Given the description of an element on the screen output the (x, y) to click on. 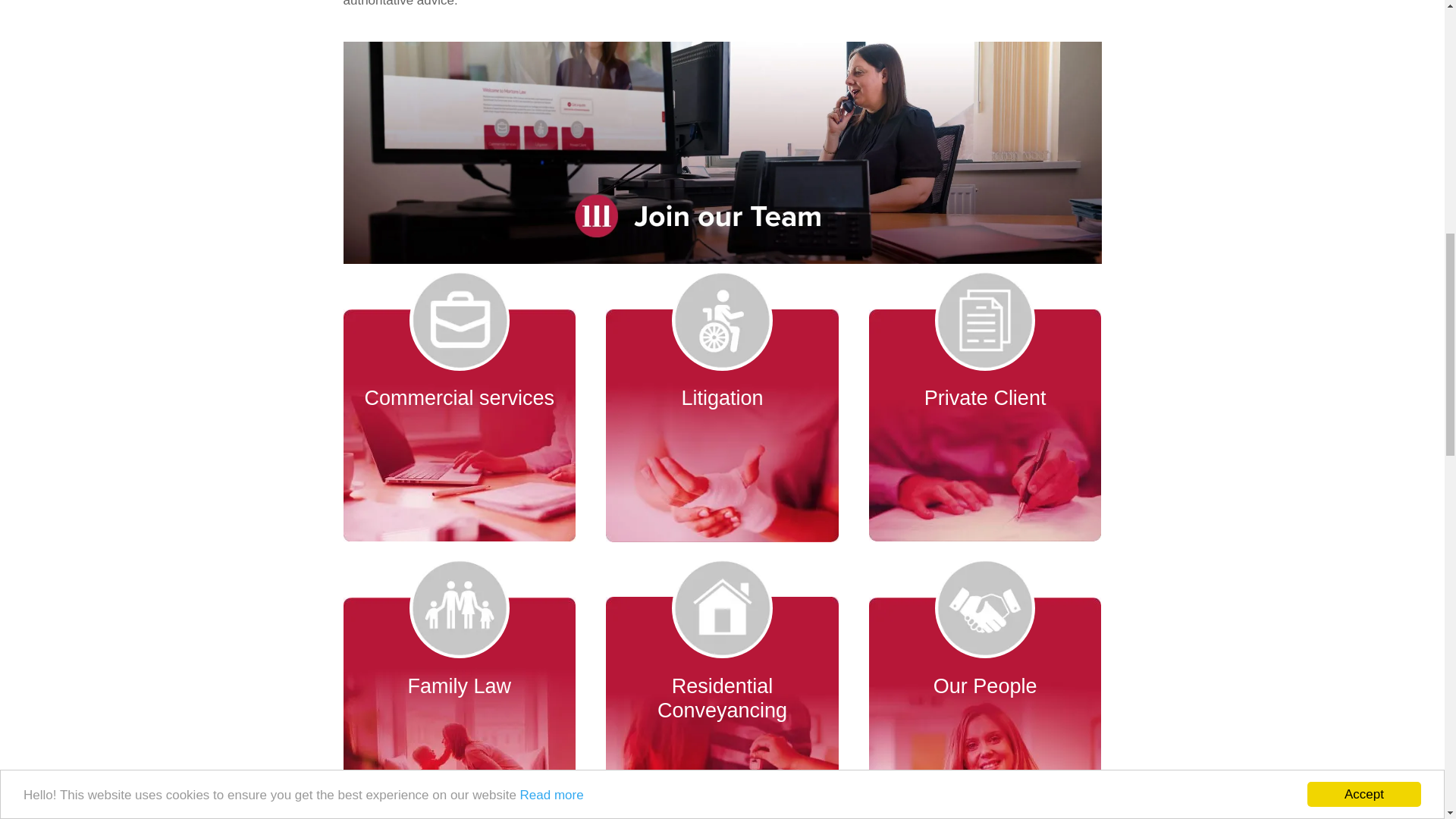
Family Law (458, 698)
Residential Conveyancing (721, 698)
Our People (985, 698)
